Given the description of an element on the screen output the (x, y) to click on. 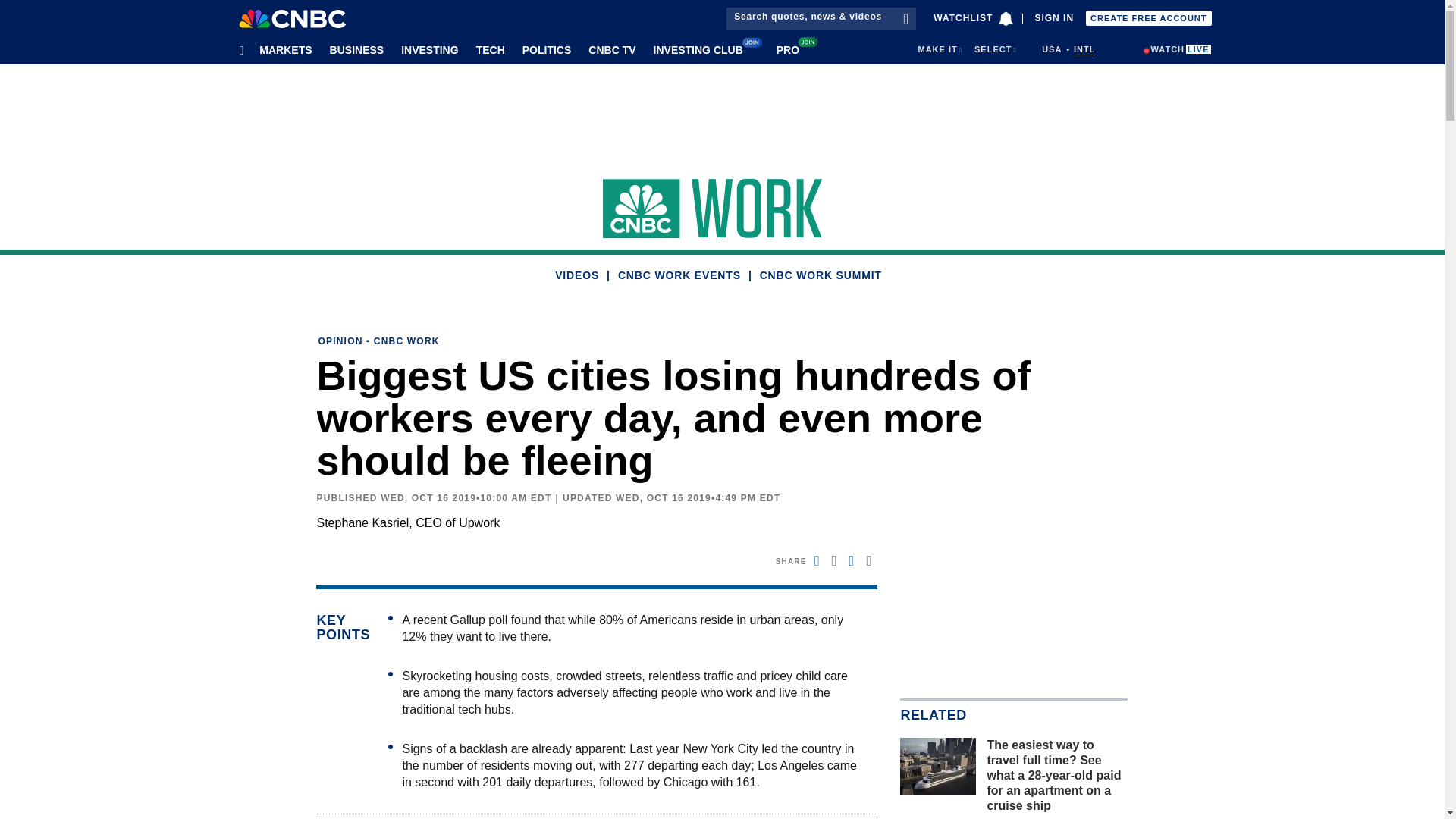
makeit (936, 49)
BUSINESS (354, 48)
INVESTING (427, 48)
MARKETS (282, 48)
